Given the description of an element on the screen output the (x, y) to click on. 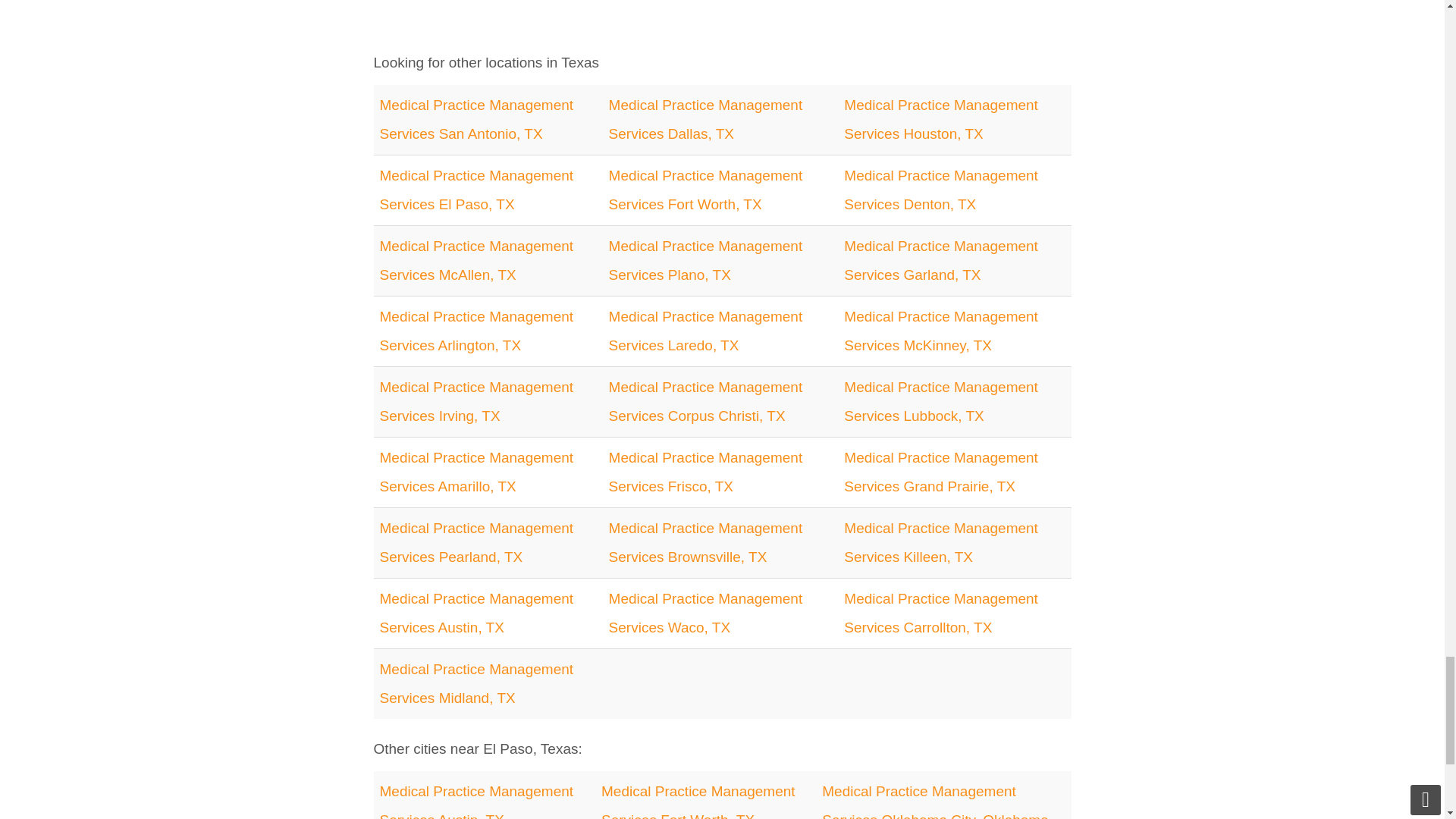
Medical Practice Management Services Plano, TX (705, 260)
Medical Practice Management Services Irving, TX (475, 401)
Medical Practice Management Services Corpus Christi, TX (705, 401)
Medical Practice Management Services El Paso, TX (475, 189)
Medical Practice Management Services Fort Worth, TX (705, 189)
Medical Practice Management Services Laredo, TX (705, 330)
Medical Practice Management Services Denton, TX (941, 189)
Medical Practice Management Services McAllen, TX (475, 260)
Medical Practice Management Services Dallas, TX (705, 119)
Medical Practice Management Services San Antonio, TX (475, 119)
Medical Practice Management Services Houston, TX (941, 119)
Medical Practice Management Services Arlington, TX (475, 330)
Medical Practice Management Services Garland, TX (941, 260)
Medical Practice Management Services McKinney, TX (941, 330)
